Given the description of an element on the screen output the (x, y) to click on. 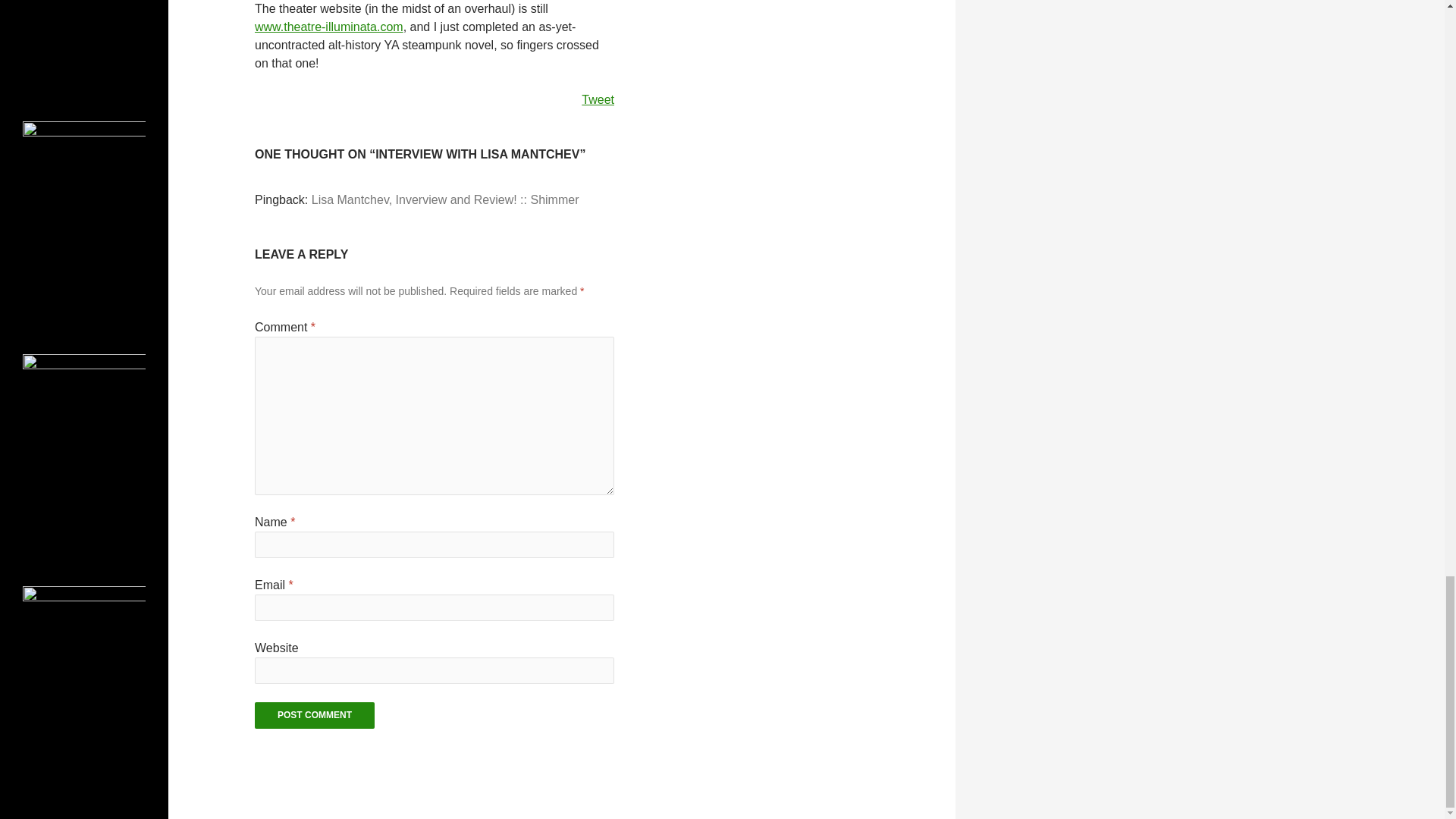
Post Comment (314, 714)
Lisa Mantchev, Inverview and Review! :: Shimmer (445, 199)
Tweet (597, 99)
Post Comment (314, 714)
www.theatre-illuminata.com (328, 26)
